Given the description of an element on the screen output the (x, y) to click on. 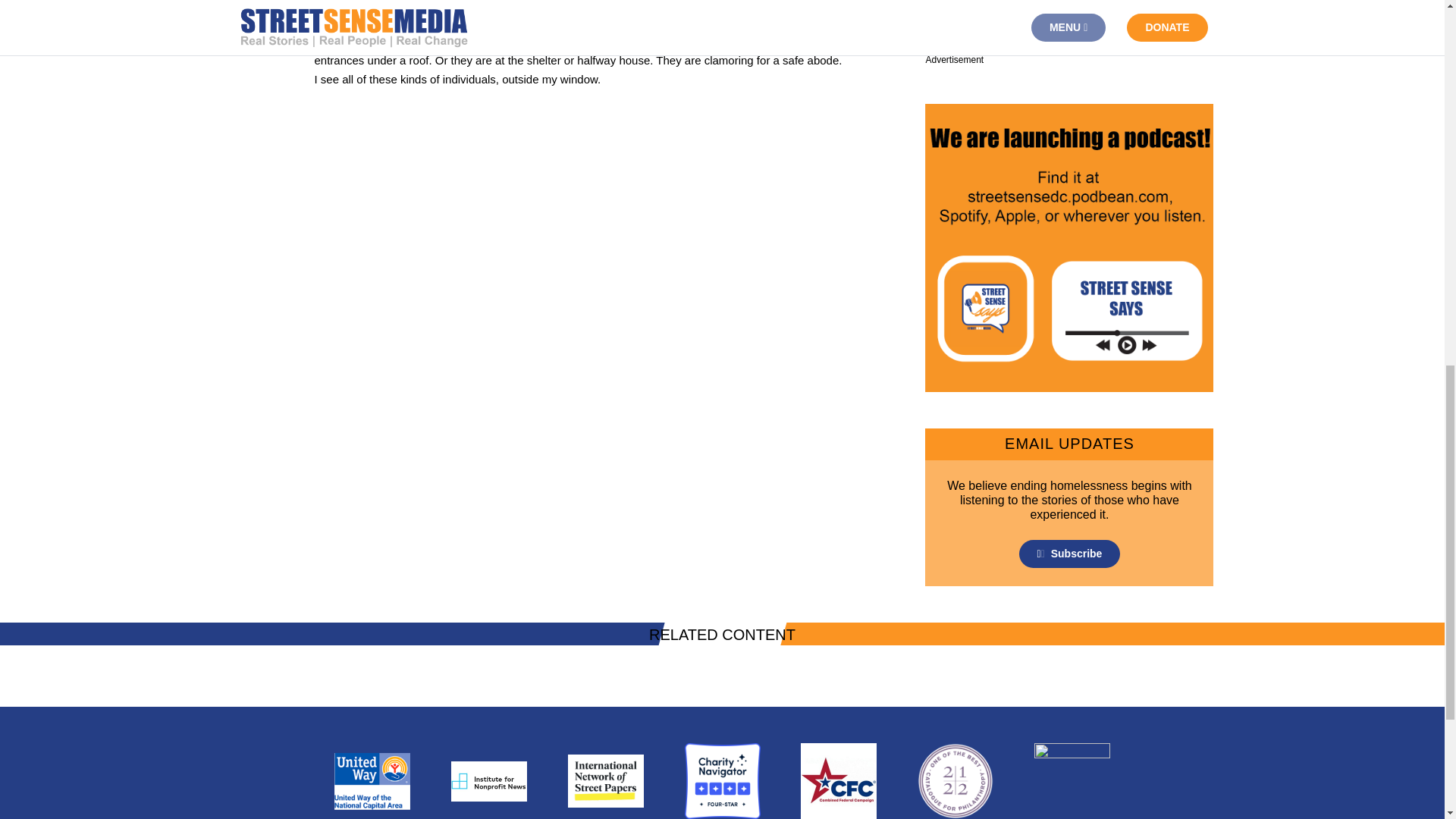
Subscribe (1070, 553)
